Given the description of an element on the screen output the (x, y) to click on. 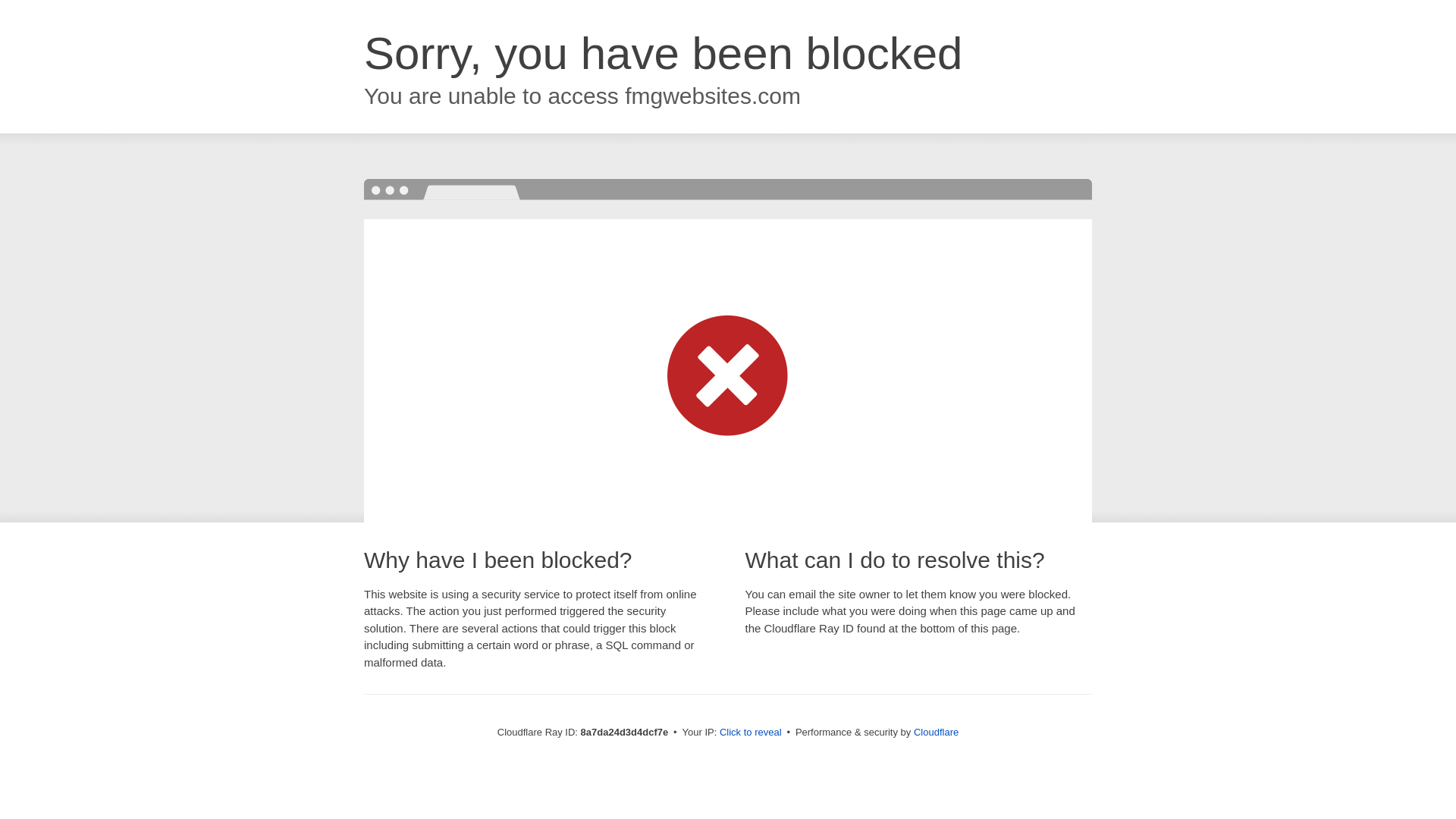
Cloudflare (936, 731)
Click to reveal (750, 732)
